Given the description of an element on the screen output the (x, y) to click on. 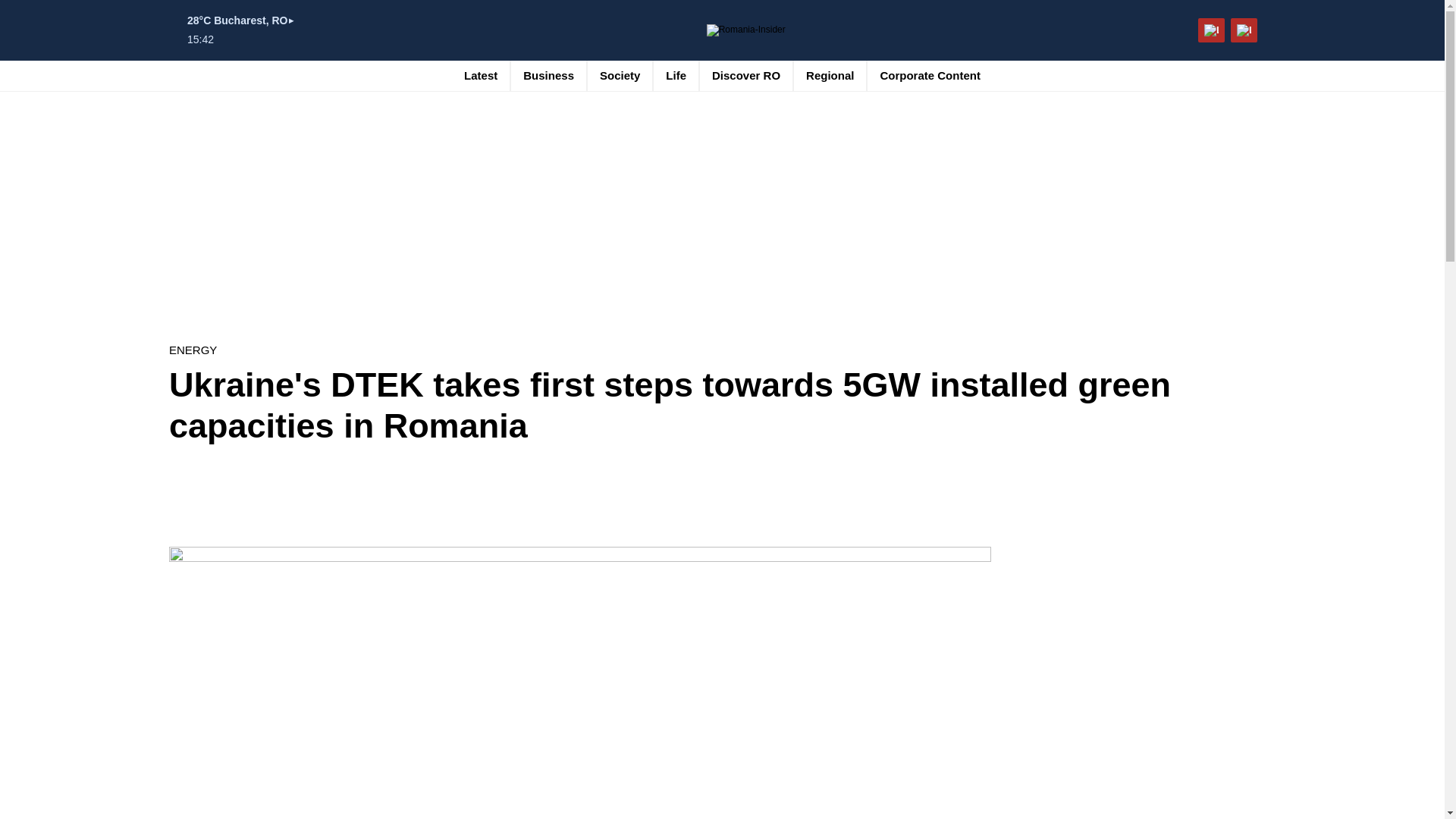
Latest (480, 74)
Society (619, 74)
Business (547, 74)
